Given the description of an element on the screen output the (x, y) to click on. 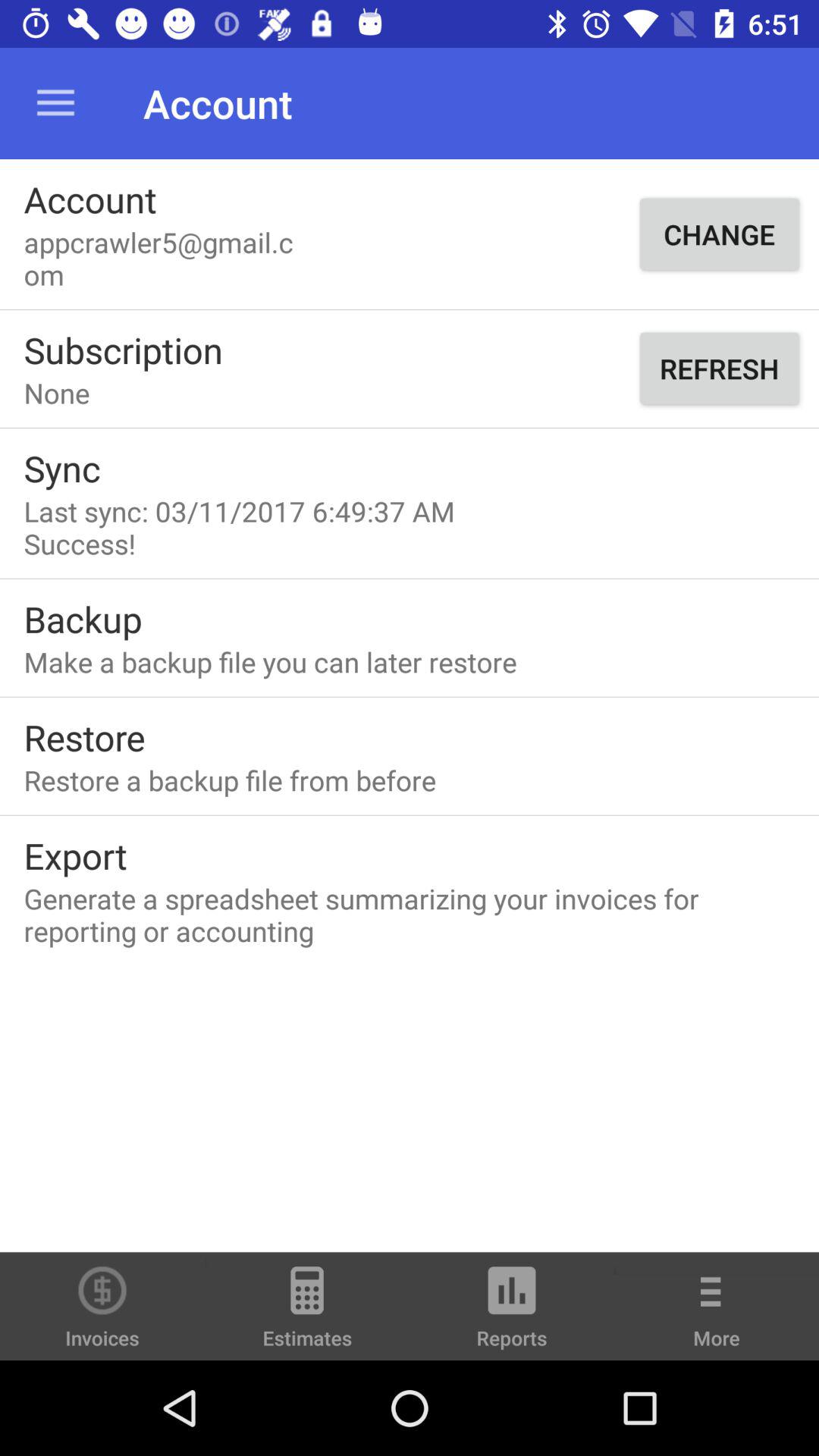
press the icon to the left of the reports icon (306, 1313)
